Given the description of an element on the screen output the (x, y) to click on. 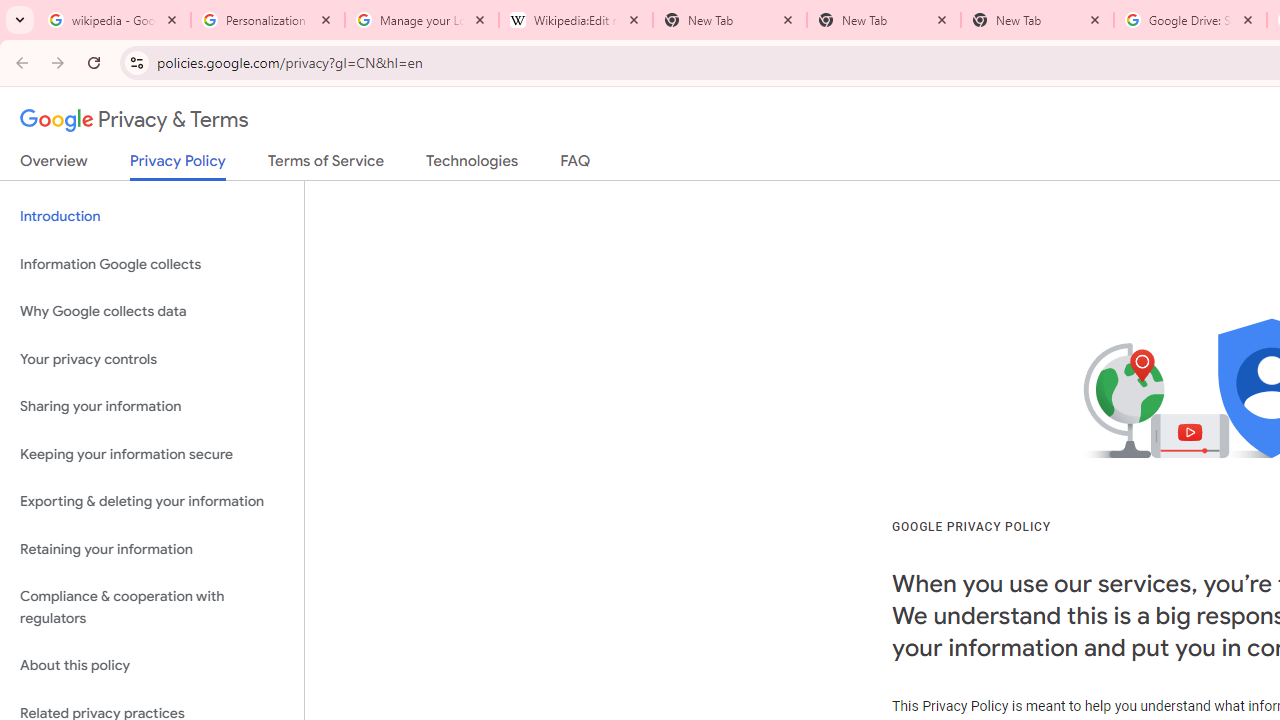
New Tab (1037, 20)
Google Drive: Sign-in (1190, 20)
